Given the description of an element on the screen output the (x, y) to click on. 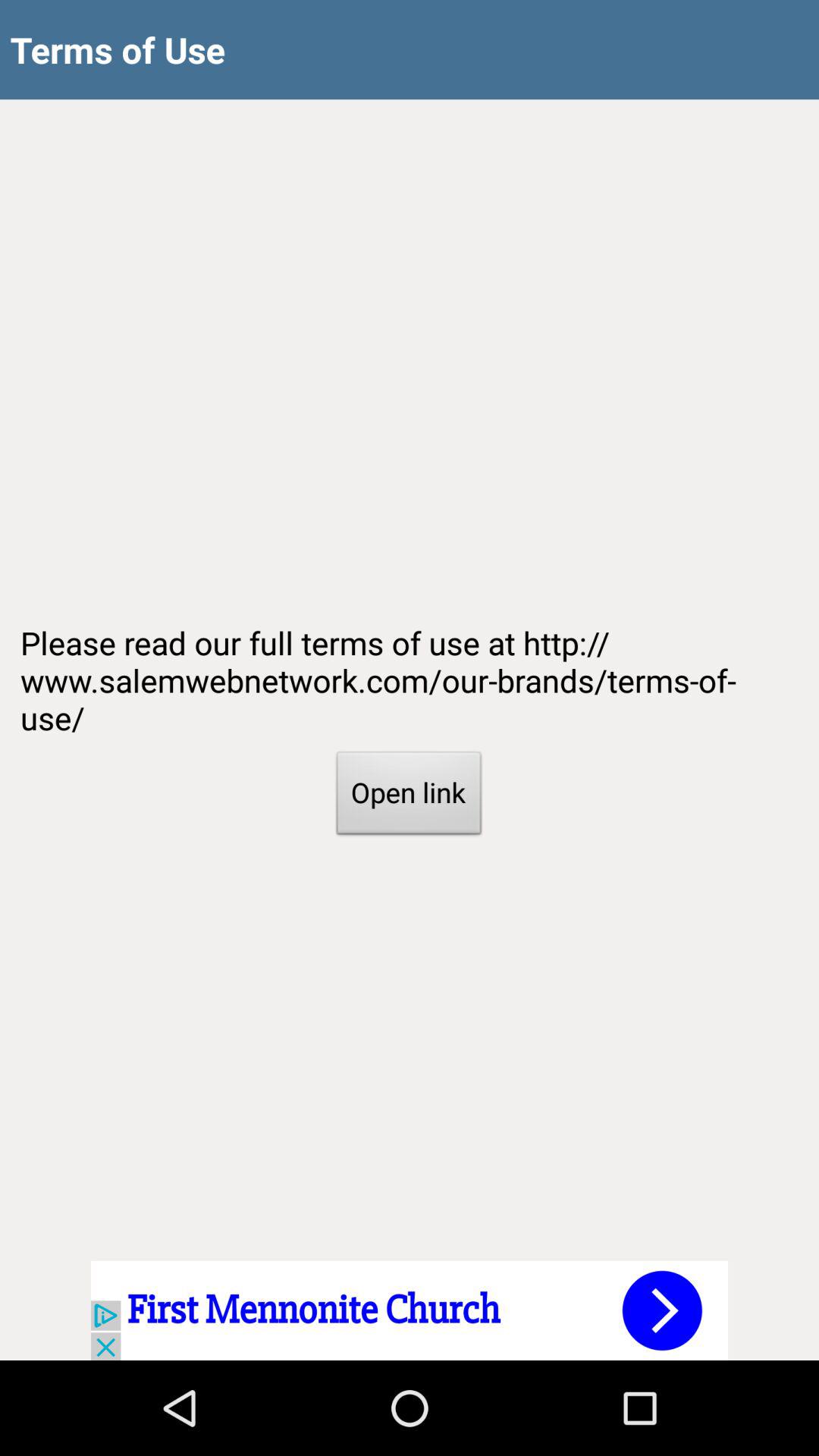
advertisement (409, 1310)
